Given the description of an element on the screen output the (x, y) to click on. 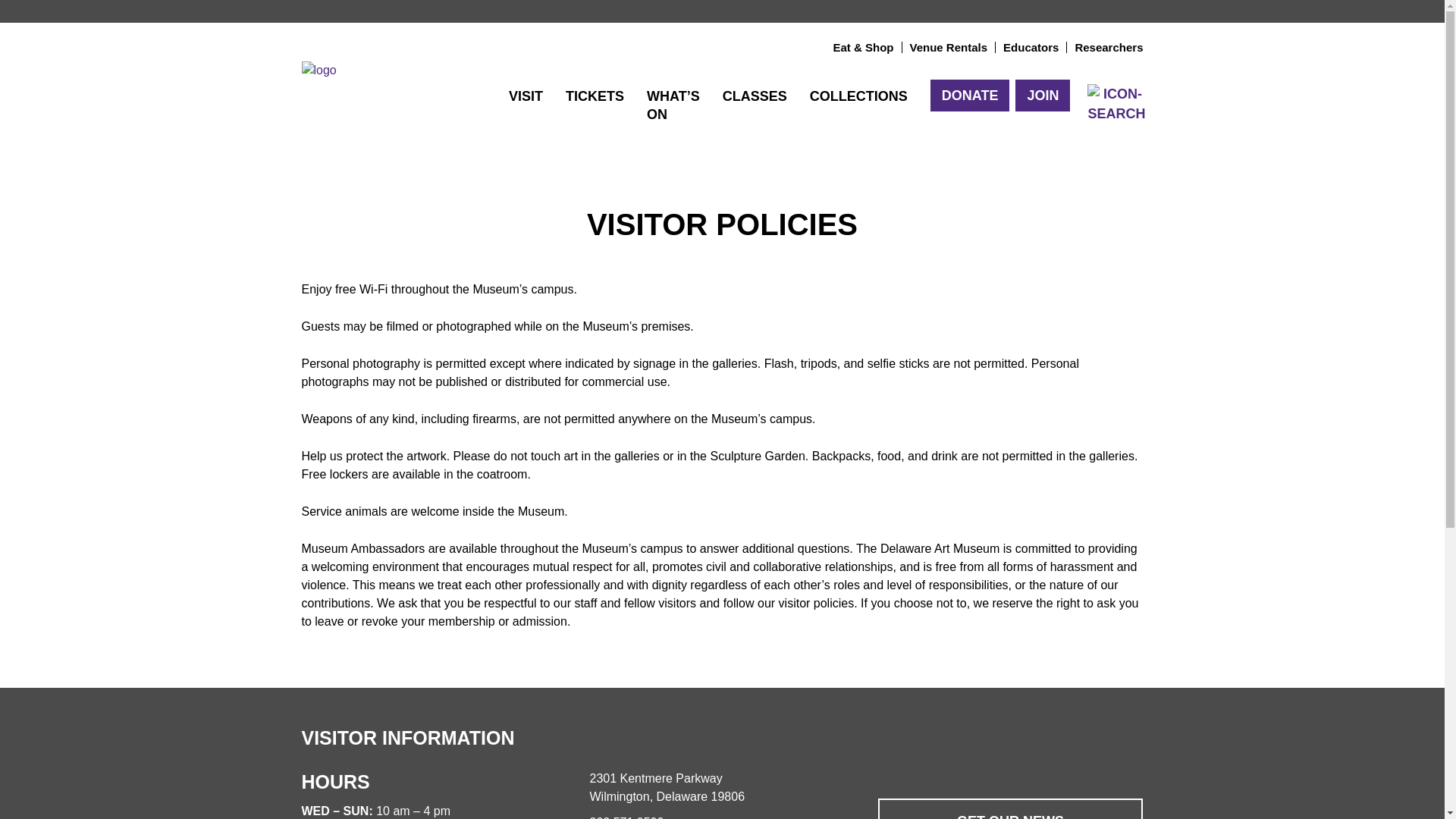
JOIN (1042, 95)
VISIT (525, 96)
GET OUR NEWS (1009, 808)
DONATE (970, 95)
TICKETS (595, 96)
COLLECTIONS (858, 96)
302.571.9590 (626, 817)
CLASSES (754, 96)
Venue Rentals (949, 47)
Researchers (1108, 47)
Educators (1030, 47)
